Given the description of an element on the screen output the (x, y) to click on. 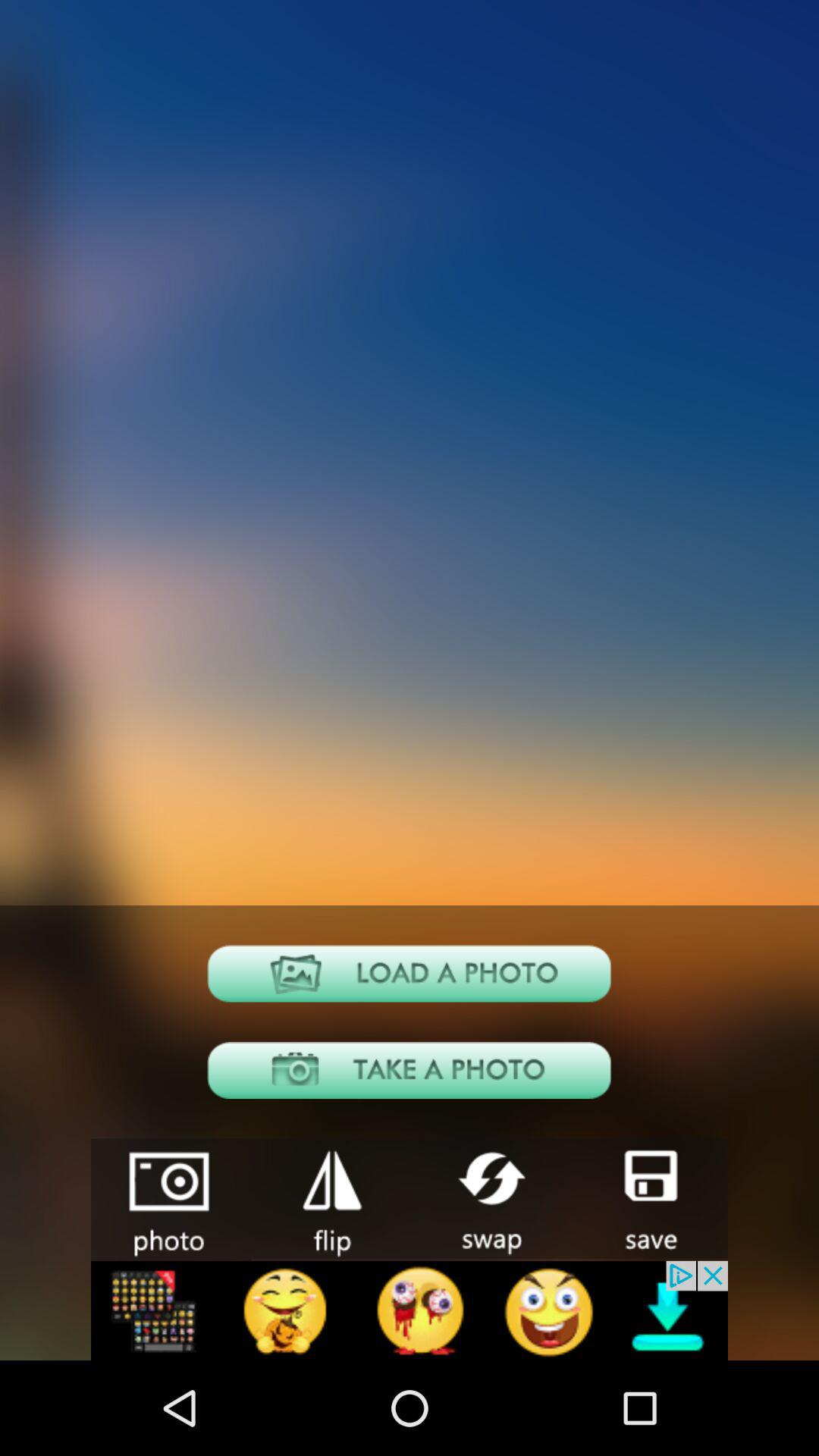
advertisement page (409, 1310)
